Given the description of an element on the screen output the (x, y) to click on. 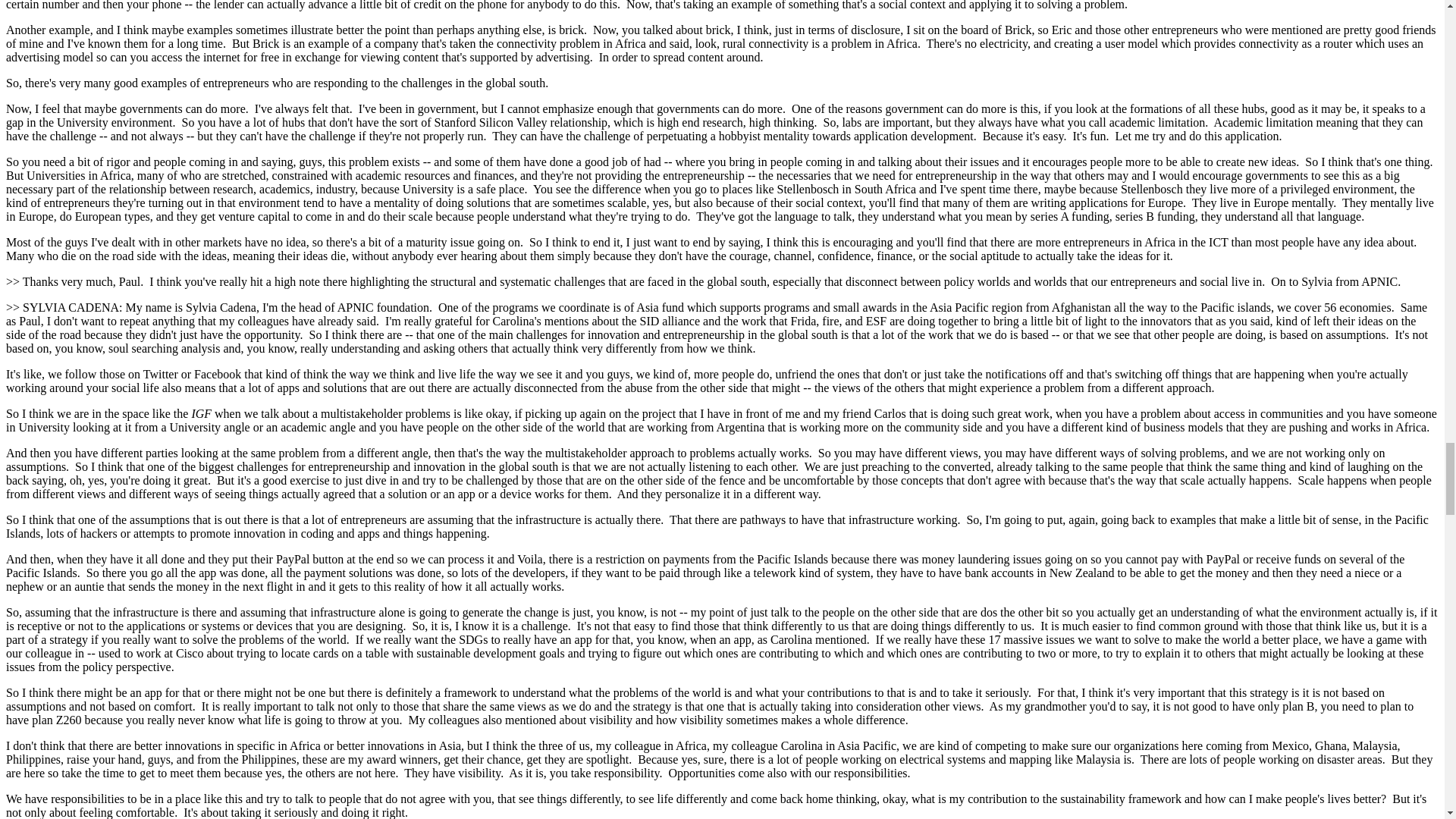
Internet Governance Forum  (200, 413)
